Given the description of an element on the screen output the (x, y) to click on. 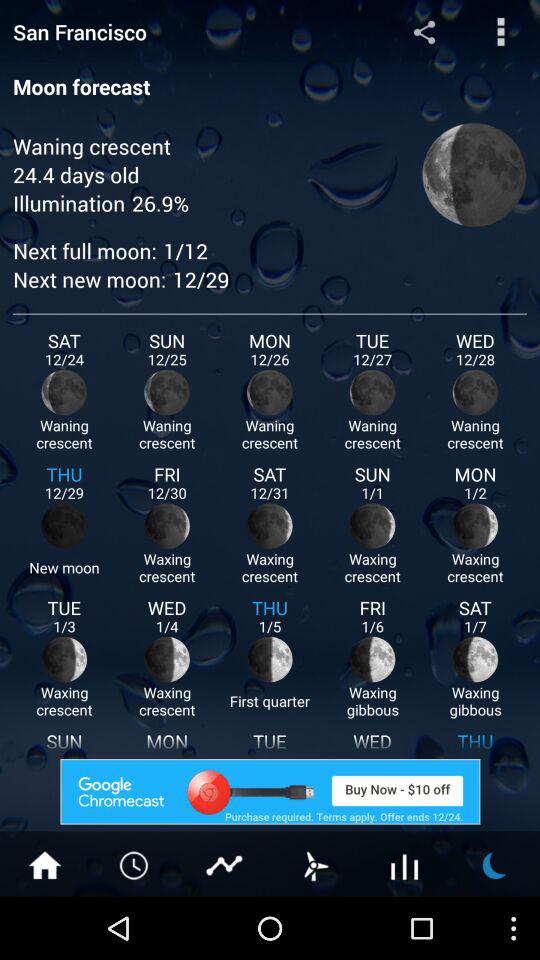
more (135, 864)
